Given the description of an element on the screen output the (x, y) to click on. 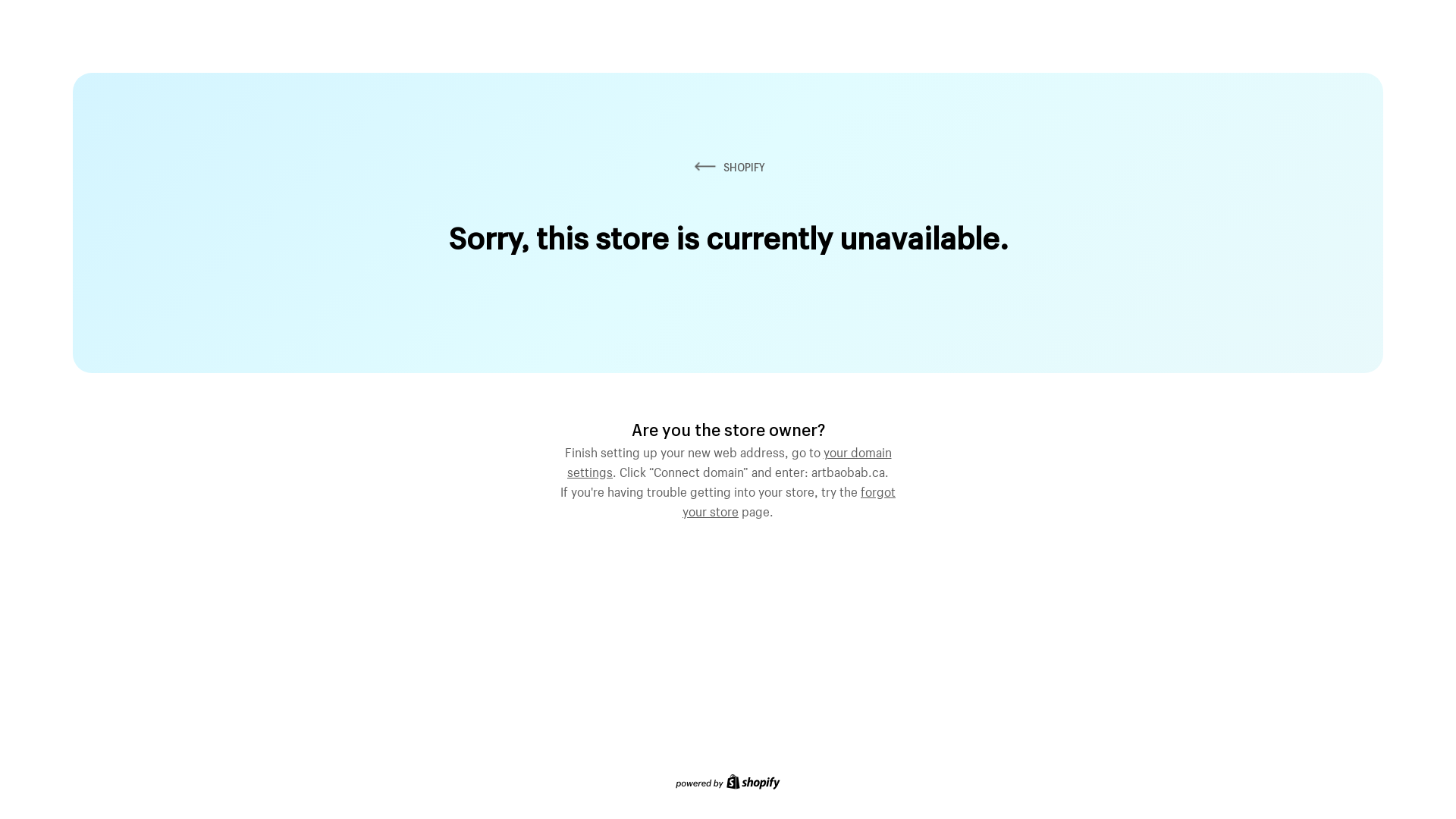
your domain settings Element type: text (729, 460)
forgot your store Element type: text (788, 499)
SHOPIFY Element type: text (727, 167)
